Given the description of an element on the screen output the (x, y) to click on. 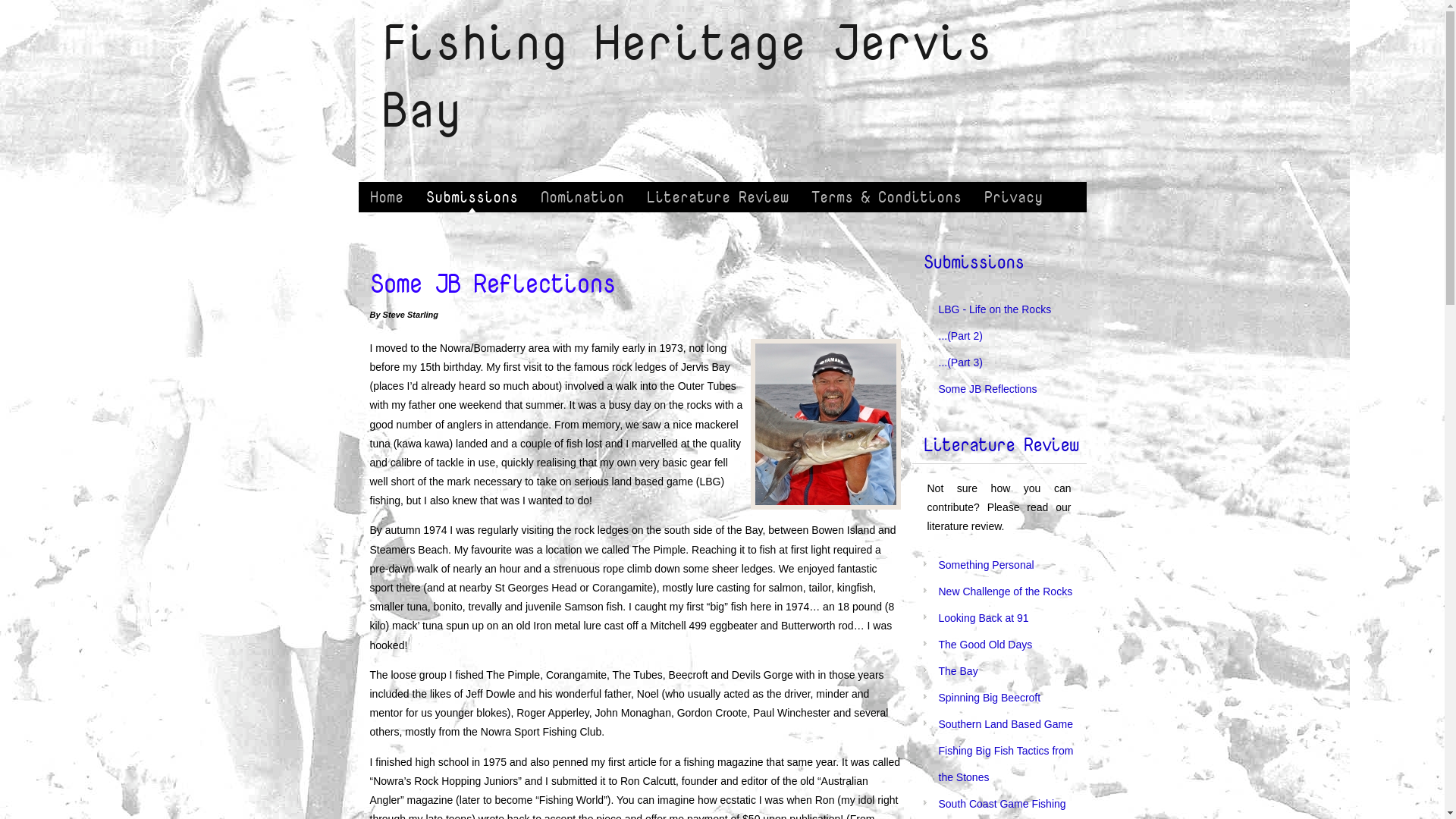
The Good Old Days Element type: text (985, 644)
Spinning Big Beecroft Element type: text (989, 697)
...(Part 2) Element type: text (960, 335)
Literature Review Element type: text (1000, 443)
Literature Review Element type: text (717, 197)
...(Part 3) Element type: text (960, 362)
Submissions Element type: text (973, 260)
Home Element type: text (385, 197)
South Coast Game Fishing Element type: text (1002, 803)
Some JB Reflections Element type: text (987, 388)
Submissions Element type: text (471, 197)
New Challenge of the Rocks Element type: text (1005, 591)
Nomination Element type: text (582, 197)
Looking Back at 91 Element type: text (983, 617)
Privacy Element type: text (1012, 197)
Terms & Conditions Element type: text (885, 197)
The Bay Element type: text (958, 671)
Fishing Heritage Jervis Bay Element type: text (685, 74)
LBG - Life on the Rocks Element type: text (994, 309)
Something Personal Element type: text (986, 564)
